Given the description of an element on the screen output the (x, y) to click on. 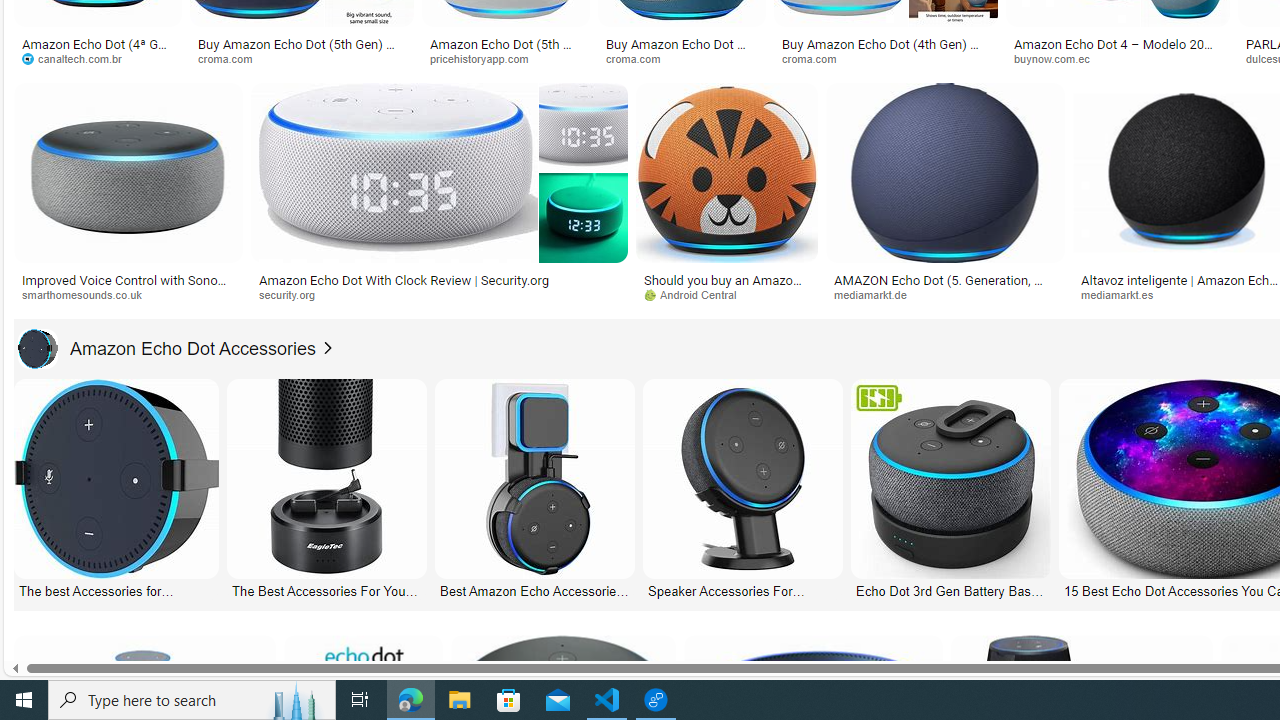
Image result for Amazon Echo Dot PNG (944, 172)
canaltech.com.br (78, 57)
Android Central (726, 295)
canaltech.com.br (97, 58)
Amazon Echo Dot Accessories (167, 348)
Amazon Echo Dot With Clock Review | Security.org (404, 279)
smarthomesounds.co.uk (128, 295)
security.org (438, 295)
security.org (294, 294)
